Given the description of an element on the screen output the (x, y) to click on. 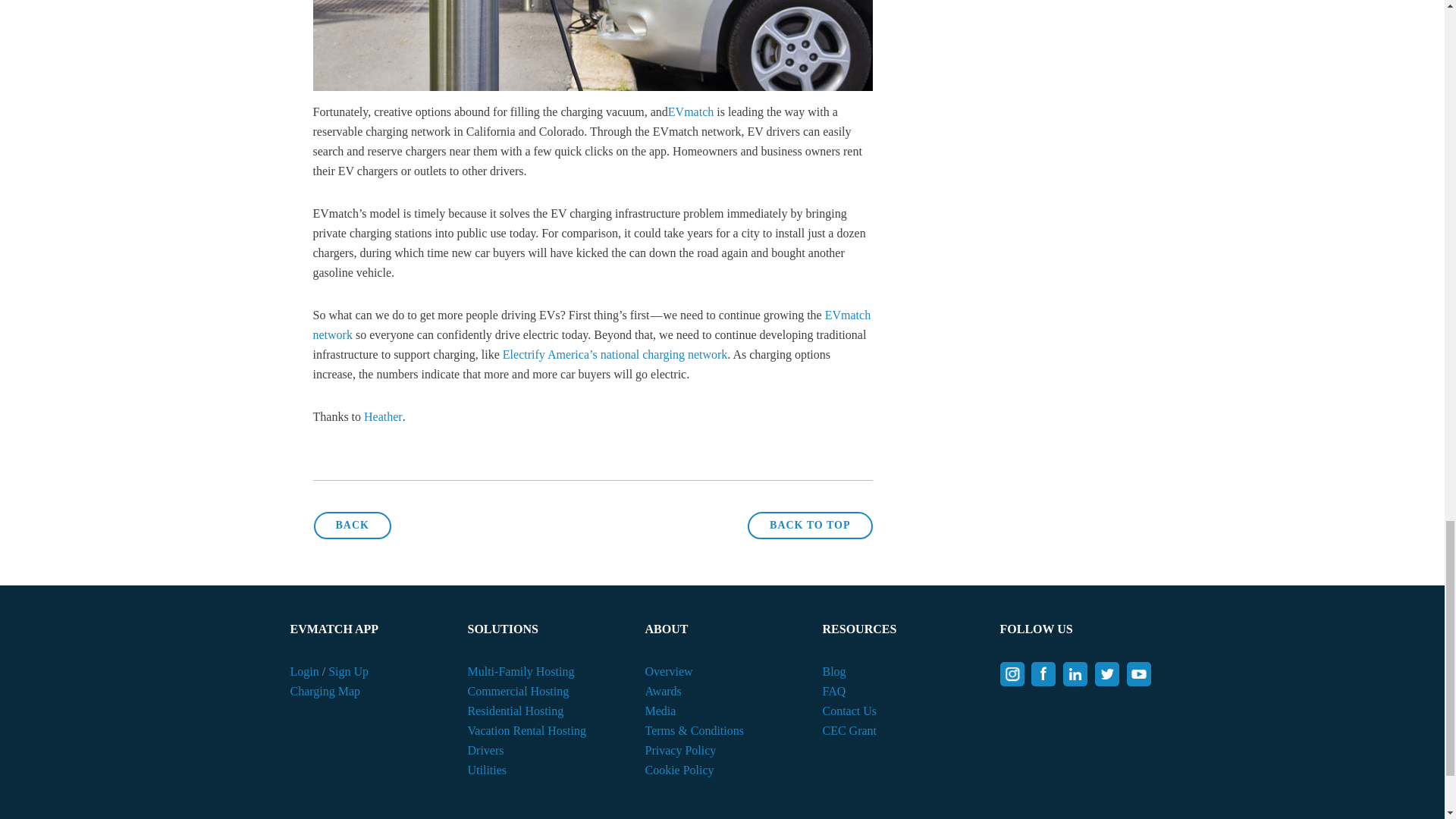
image (592, 45)
social-instagram (1010, 673)
